Given the description of an element on the screen output the (x, y) to click on. 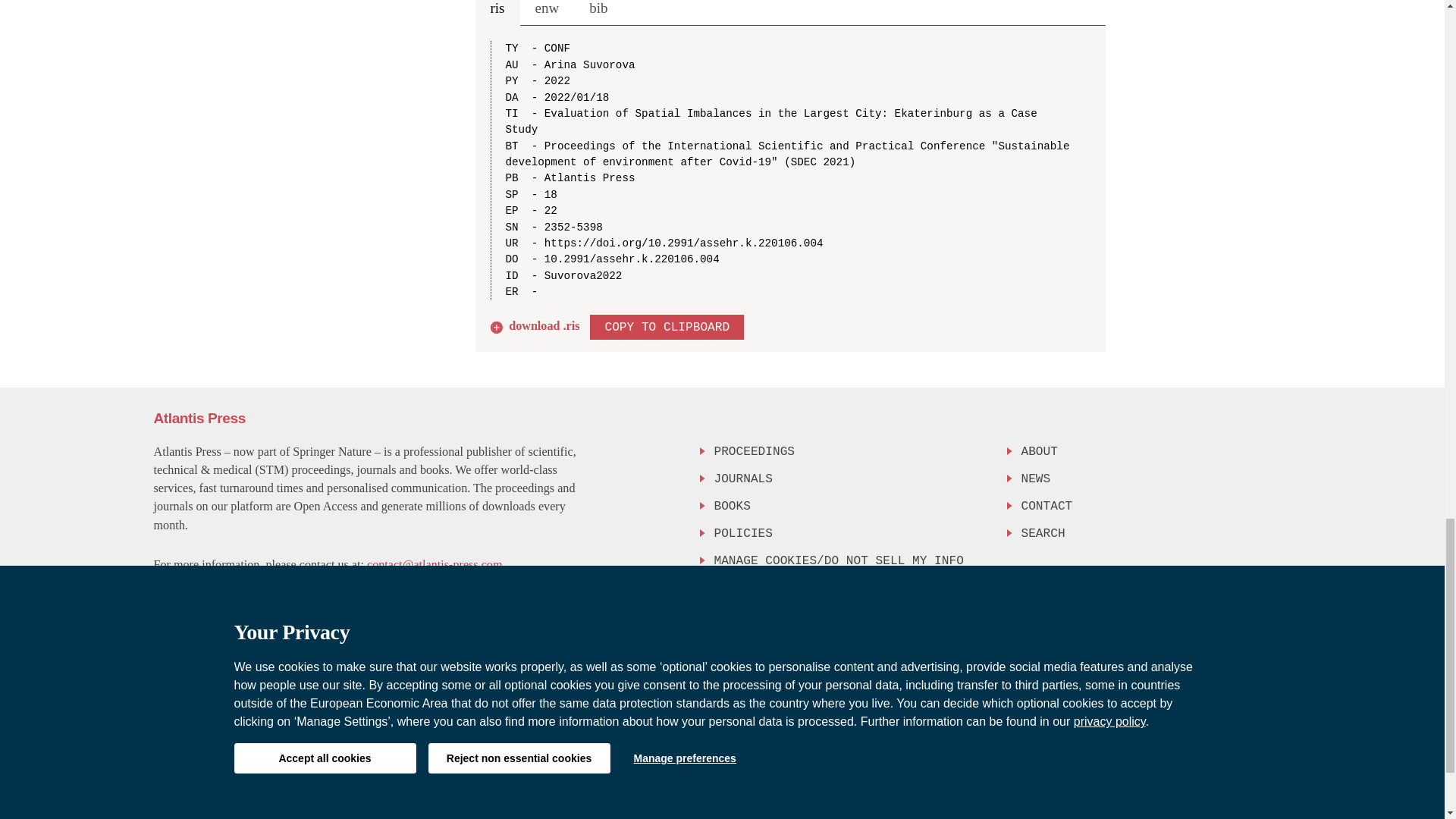
Twitter (1243, 628)
LinkedIn (1275, 628)
Facebook (1215, 628)
